Given the description of an element on the screen output the (x, y) to click on. 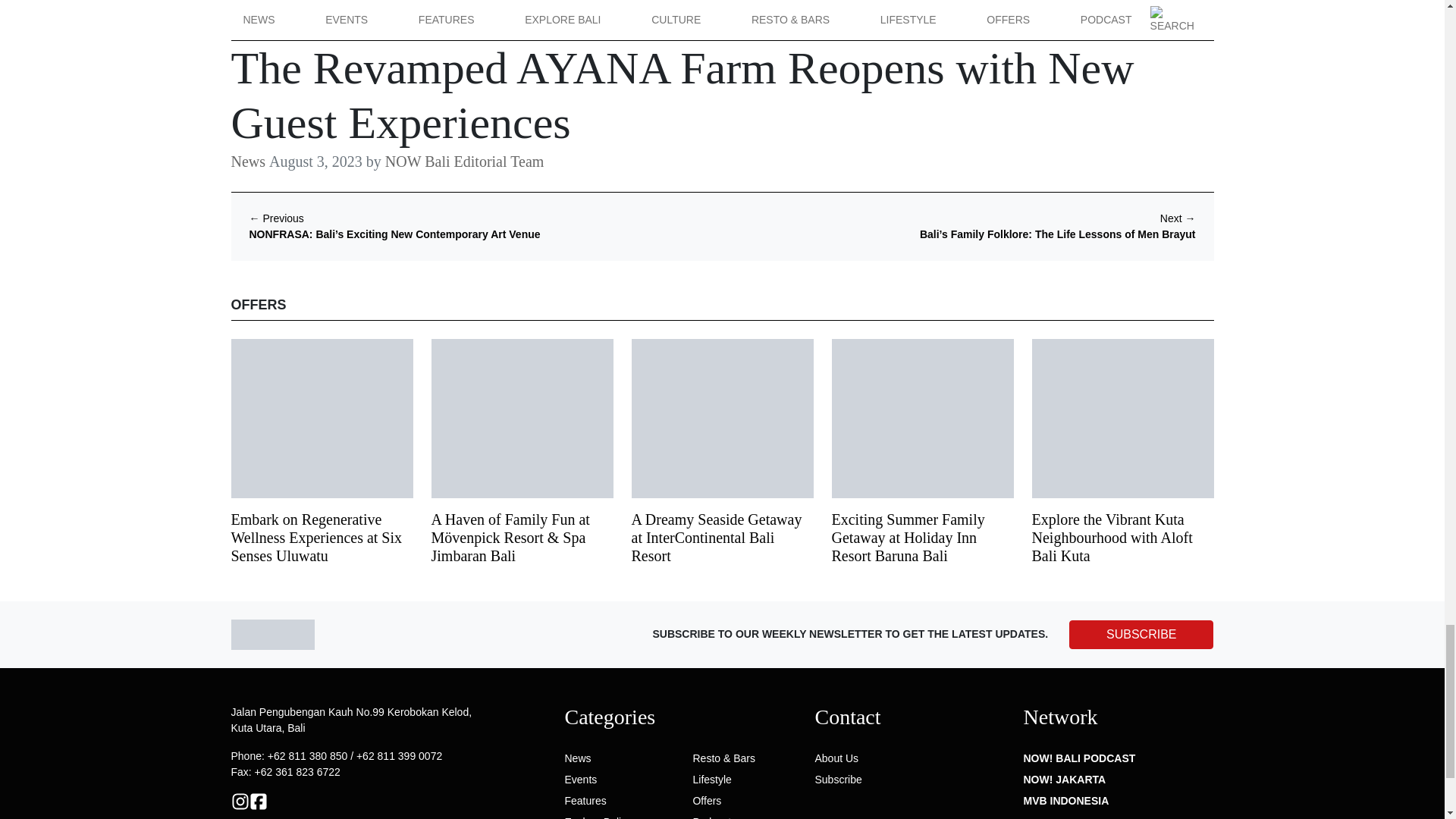
Instagraqm (239, 799)
NOW Bali Editorial Team (523, 106)
